Given the description of an element on the screen output the (x, y) to click on. 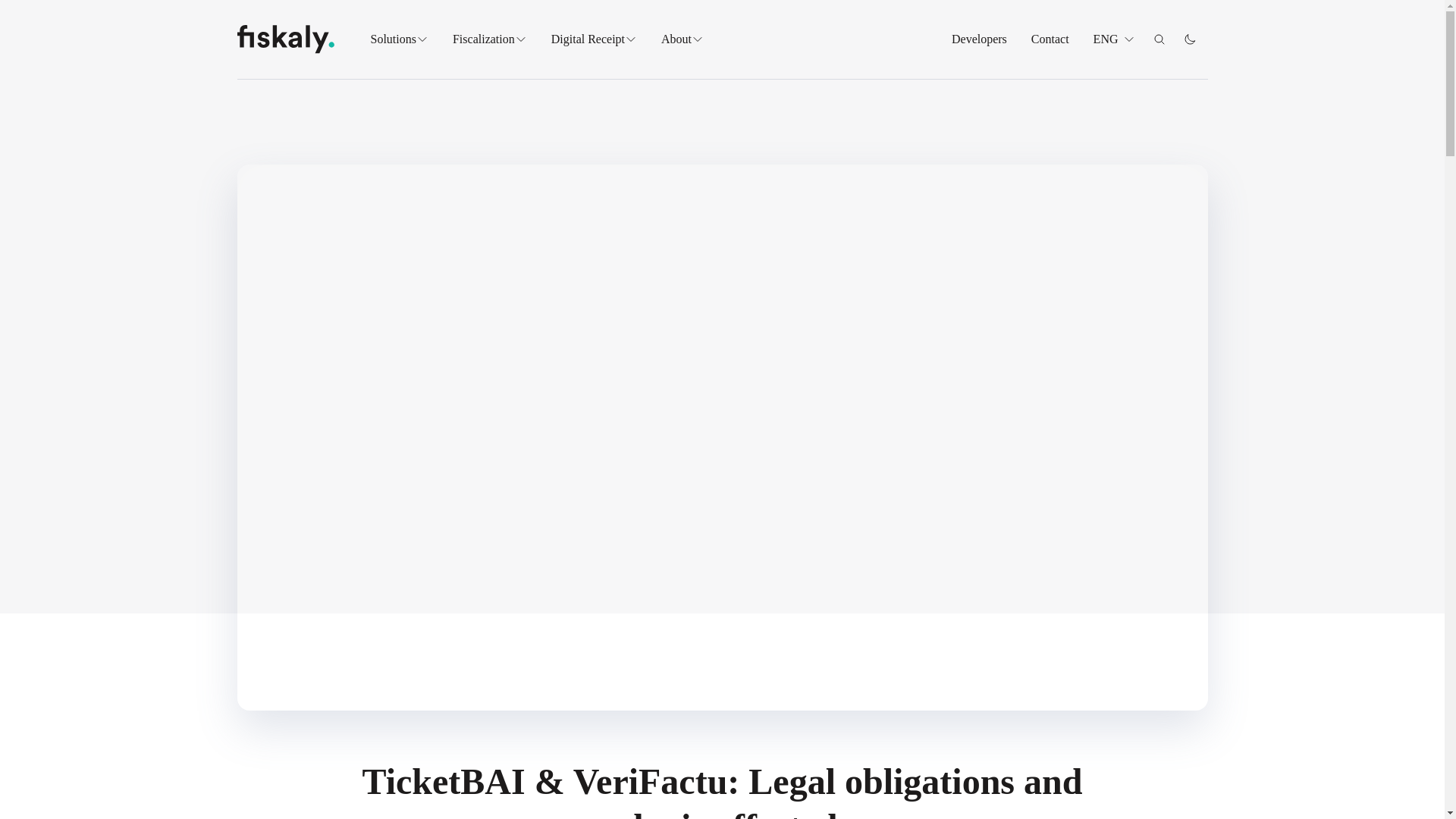
Fiscalization (489, 38)
About (682, 38)
Digital Receipt (594, 38)
Solutions (398, 38)
Solutions (445, 67)
Switch to dark mode (1188, 38)
About (713, 67)
Developers (979, 38)
Fiscalization (529, 67)
Digital Receipt (668, 67)
fiskaly. (284, 39)
Contact (1049, 38)
ENG (1114, 39)
